Given the description of an element on the screen output the (x, y) to click on. 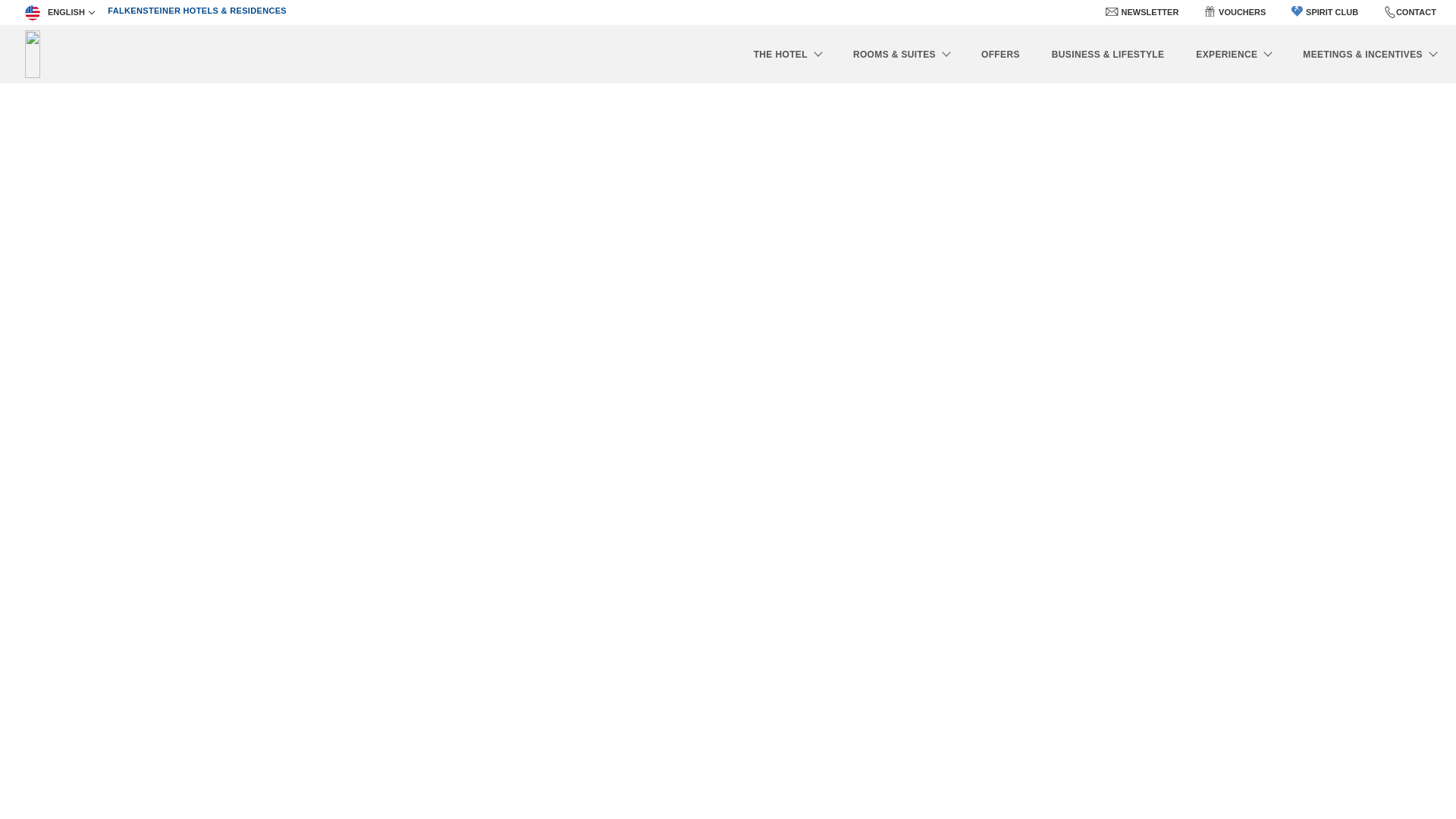
Vouchers (1209, 11)
NEWSLETTER (1150, 12)
CONTACT (1415, 11)
ENGLISH (59, 11)
VOUCHERS (1241, 12)
club (1297, 10)
THE HOTEL (787, 53)
SPIRIT CLUB (1324, 12)
